Given the description of an element on the screen output the (x, y) to click on. 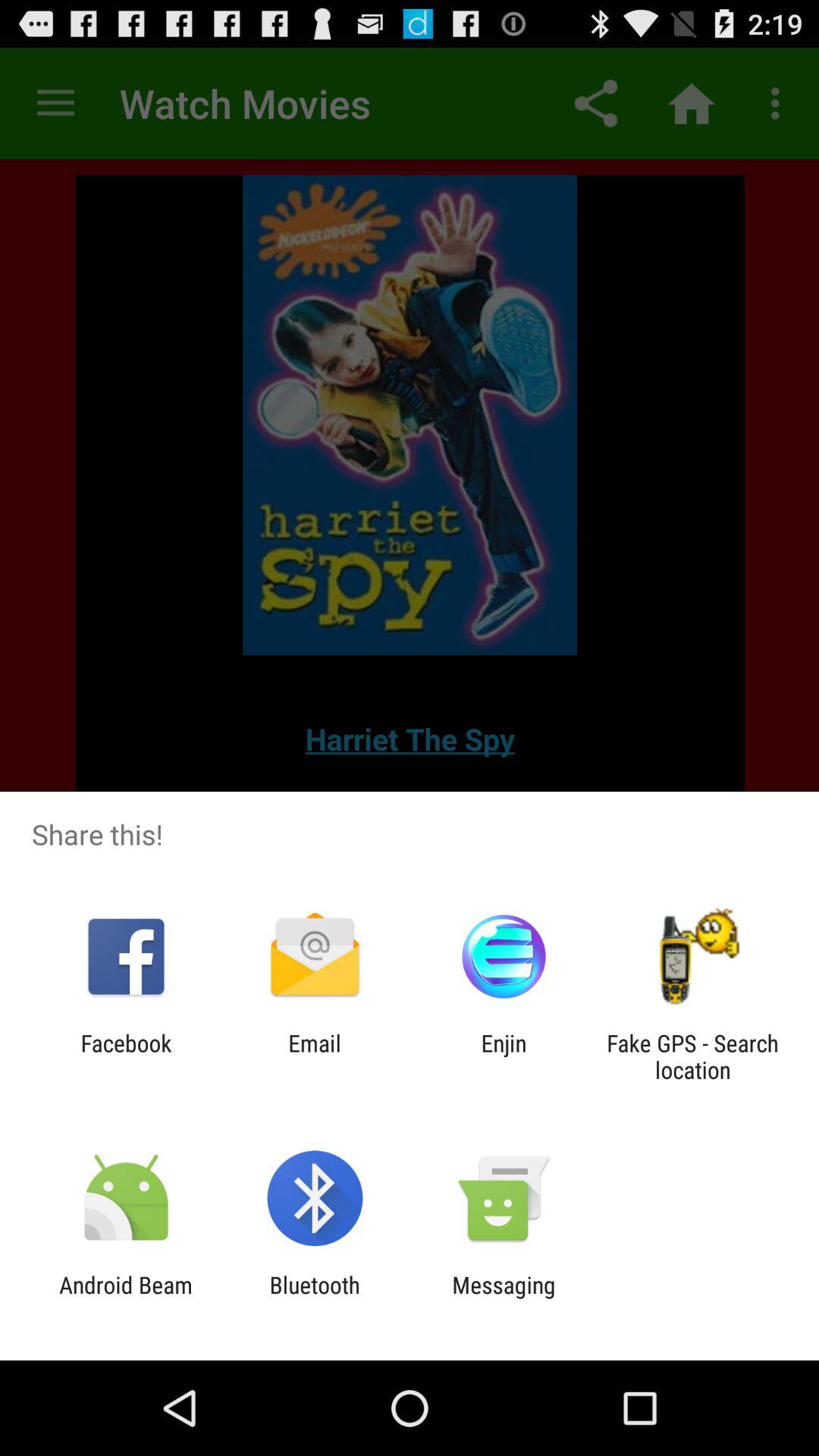
tap item next to enjin item (692, 1056)
